Given the description of an element on the screen output the (x, y) to click on. 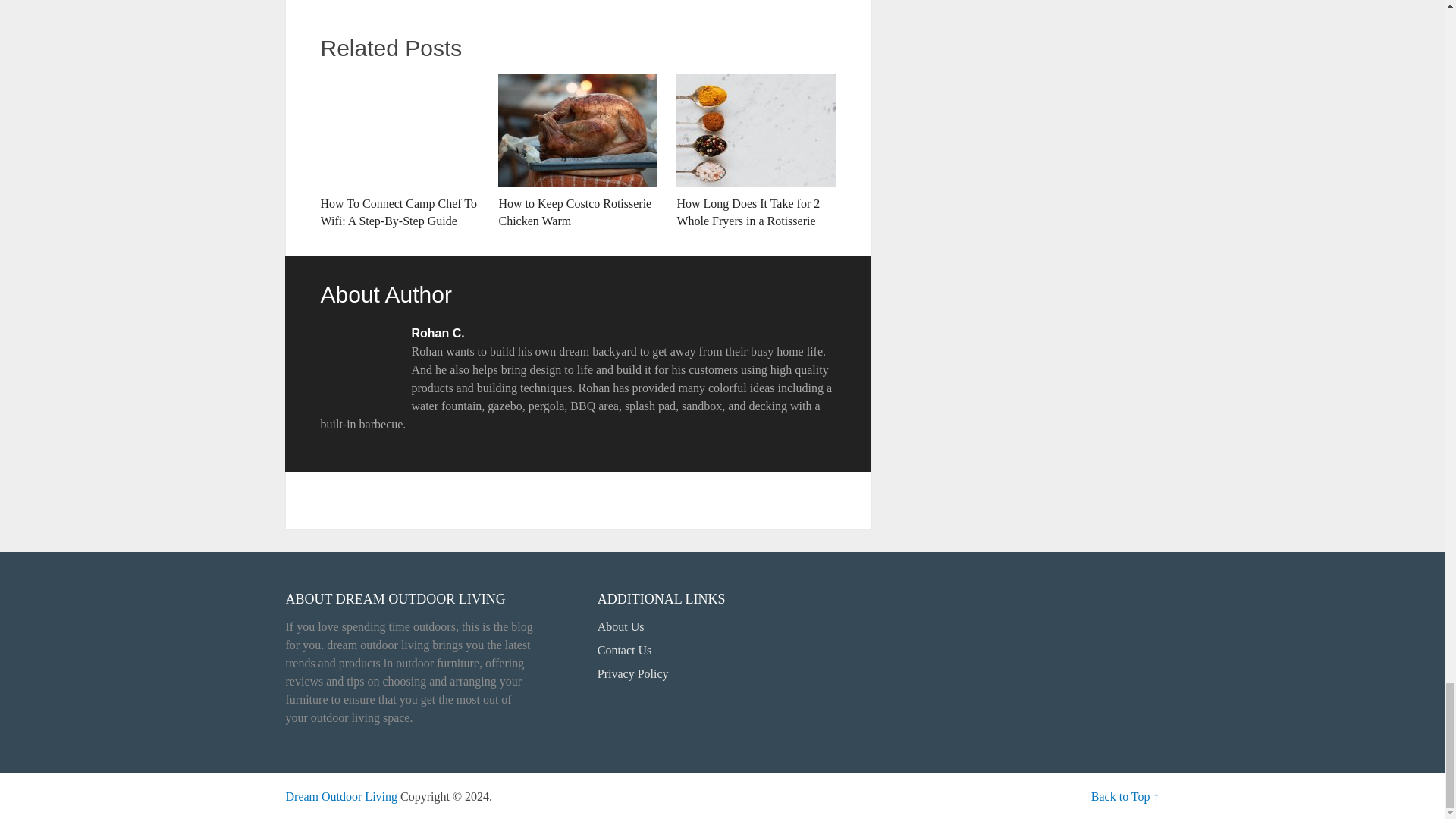
How To Connect Camp Chef To Wifi: A Step-By-Step Guide (399, 151)
How to Keep Costco Rotisserie Chicken Warm (577, 151)
How to Keep Costco Rotisserie Chicken Warm (577, 151)
How To Connect Camp Chef To Wifi: A Step-By-Step Guide (399, 151)
How Long Does It Take for 2 Whole Fryers in a Rotisserie (756, 151)
How Long Does It Take for 2 Whole Fryers in a Rotisserie (756, 151)
Let's Build Your Dream Outdoor Space! (341, 796)
